Given the description of an element on the screen output the (x, y) to click on. 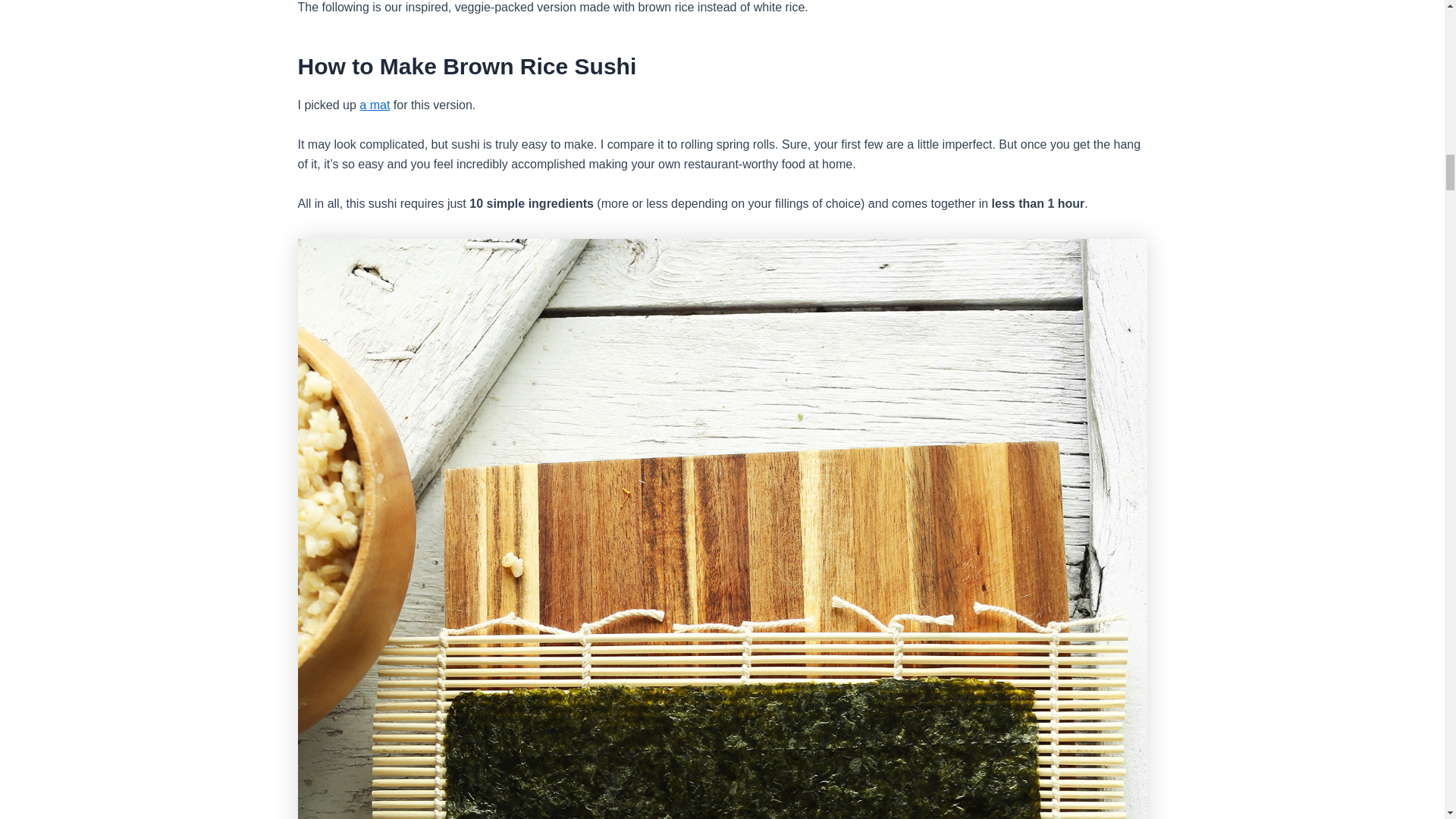
a mat (374, 104)
